Given the description of an element on the screen output the (x, y) to click on. 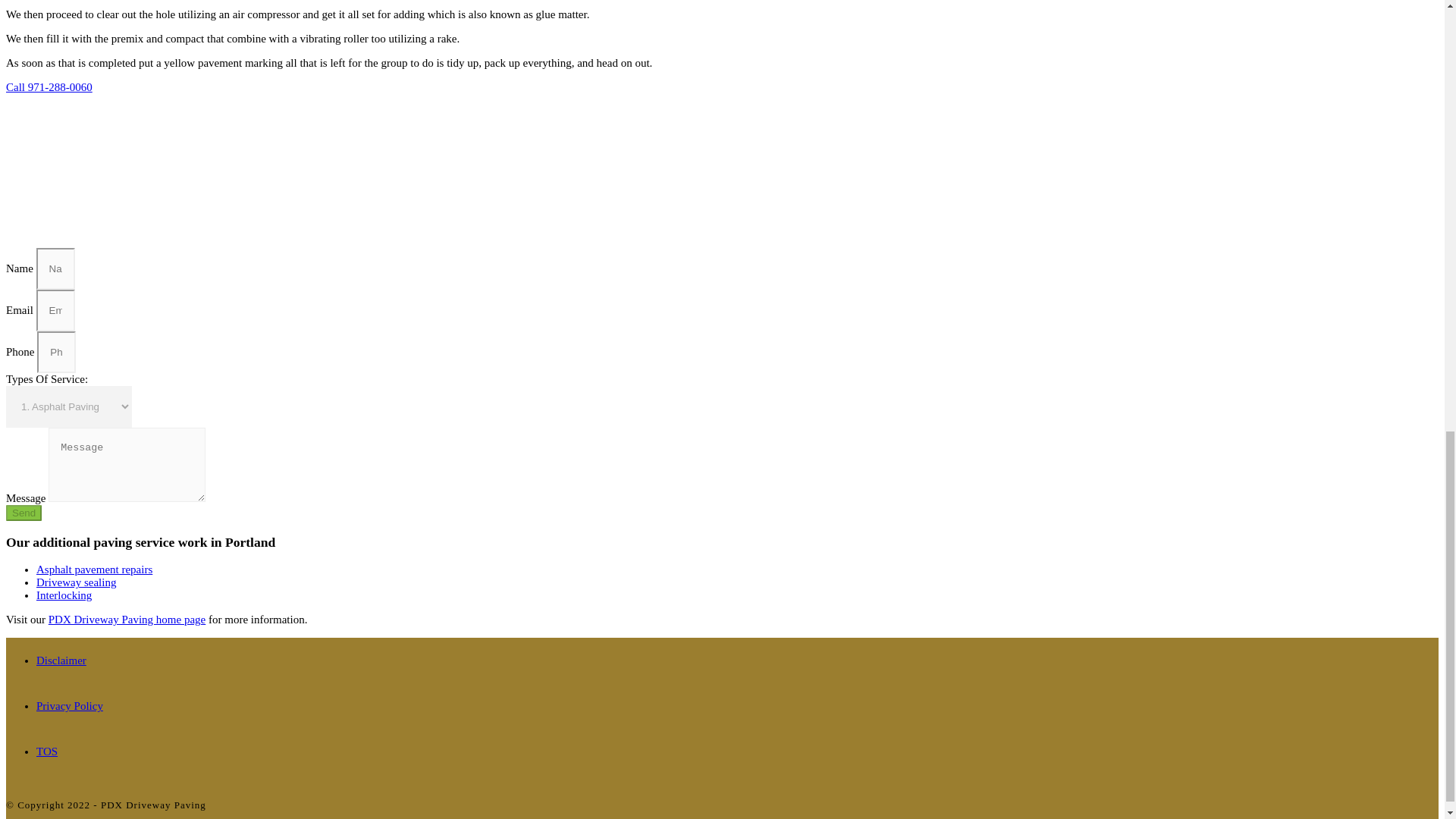
Privacy Policy (69, 705)
Call 971-288-0060 (49, 87)
PDX Driveway Paving home page (126, 619)
Driveway sealing (76, 582)
Interlocking (63, 594)
Disclaimer (60, 660)
TOS (47, 751)
Asphalt pavement repairs (94, 569)
Send (23, 512)
